Given the description of an element on the screen output the (x, y) to click on. 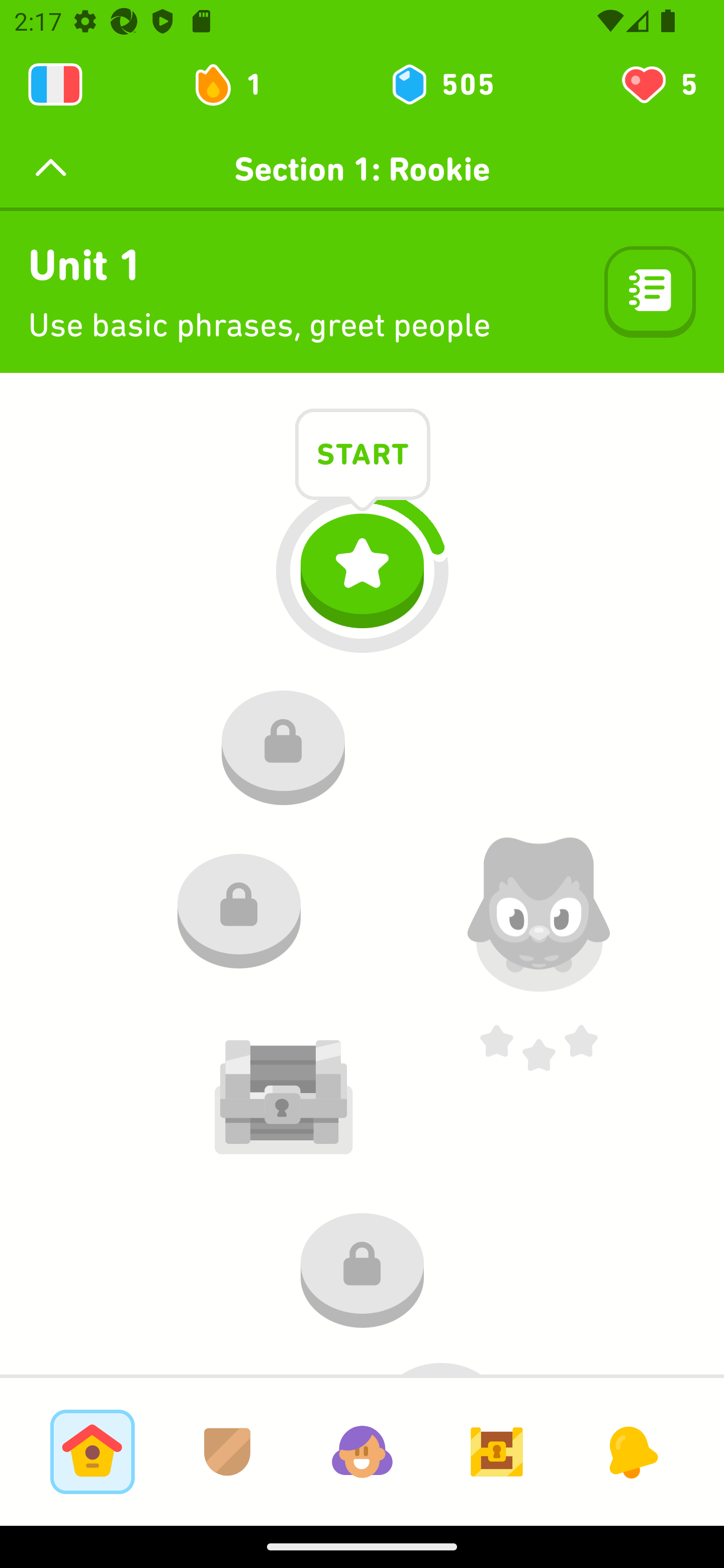
Learning 2131888976 (55, 84)
1 day streak 1 (236, 84)
505 (441, 84)
You have 5 hearts left 5 (657, 84)
Section 1: Rookie (362, 169)
START (362, 457)
Learn Tab (91, 1451)
Leagues Tab (227, 1451)
Profile Tab (361, 1451)
Goals Tab (496, 1451)
News Tab (631, 1451)
